Given the description of an element on the screen output the (x, y) to click on. 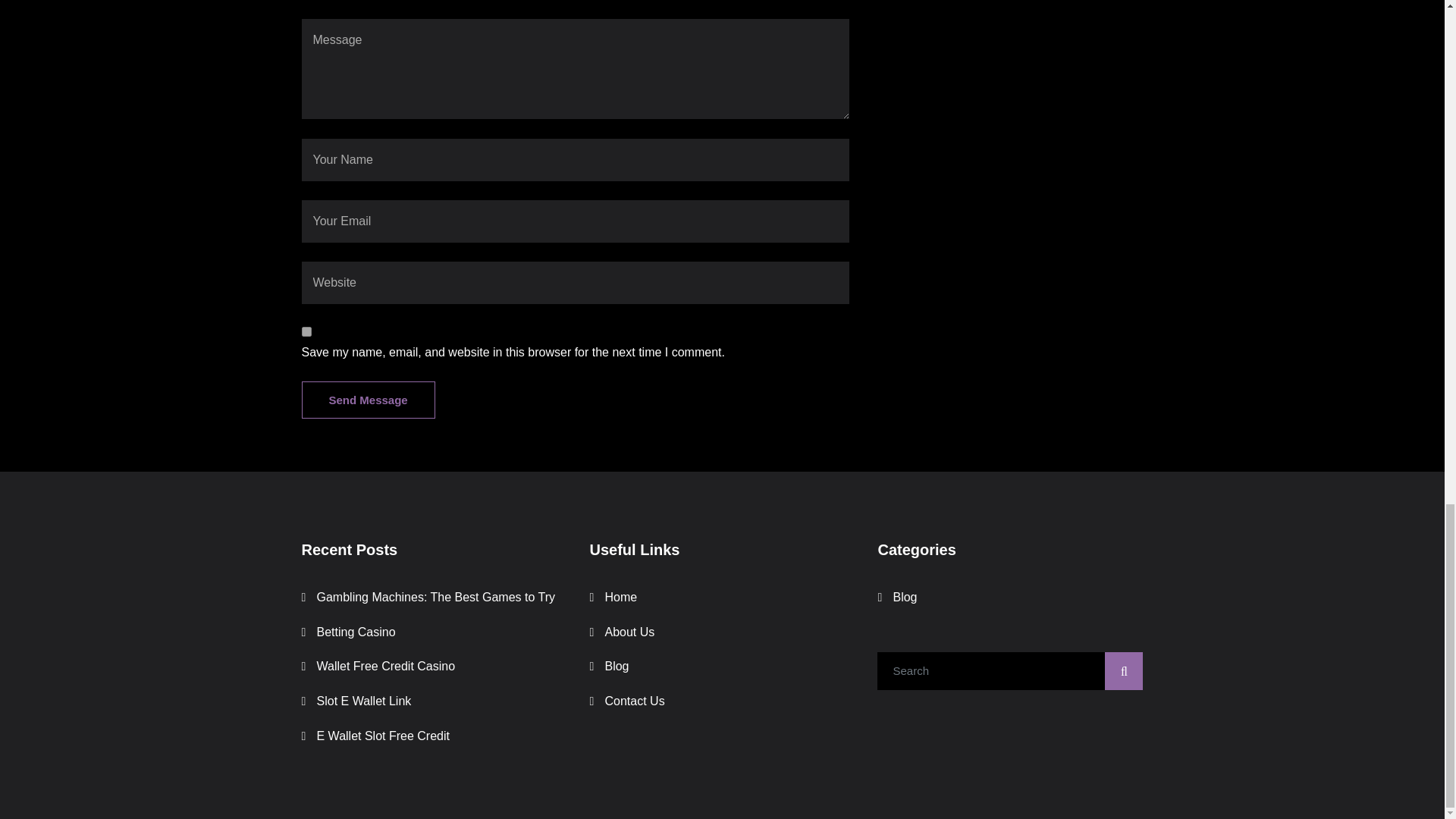
About Us (628, 631)
Home (620, 596)
Wallet Free Credit Casino (386, 666)
Betting Casino (356, 631)
Send Message (368, 399)
Send Message (368, 399)
E Wallet Slot Free Credit (383, 735)
Gambling Machines: The Best Games to Try (436, 596)
Slot E Wallet Link (364, 700)
Blog (904, 596)
Contact Us (633, 700)
Blog (616, 666)
yes (306, 331)
